Given the description of an element on the screen output the (x, y) to click on. 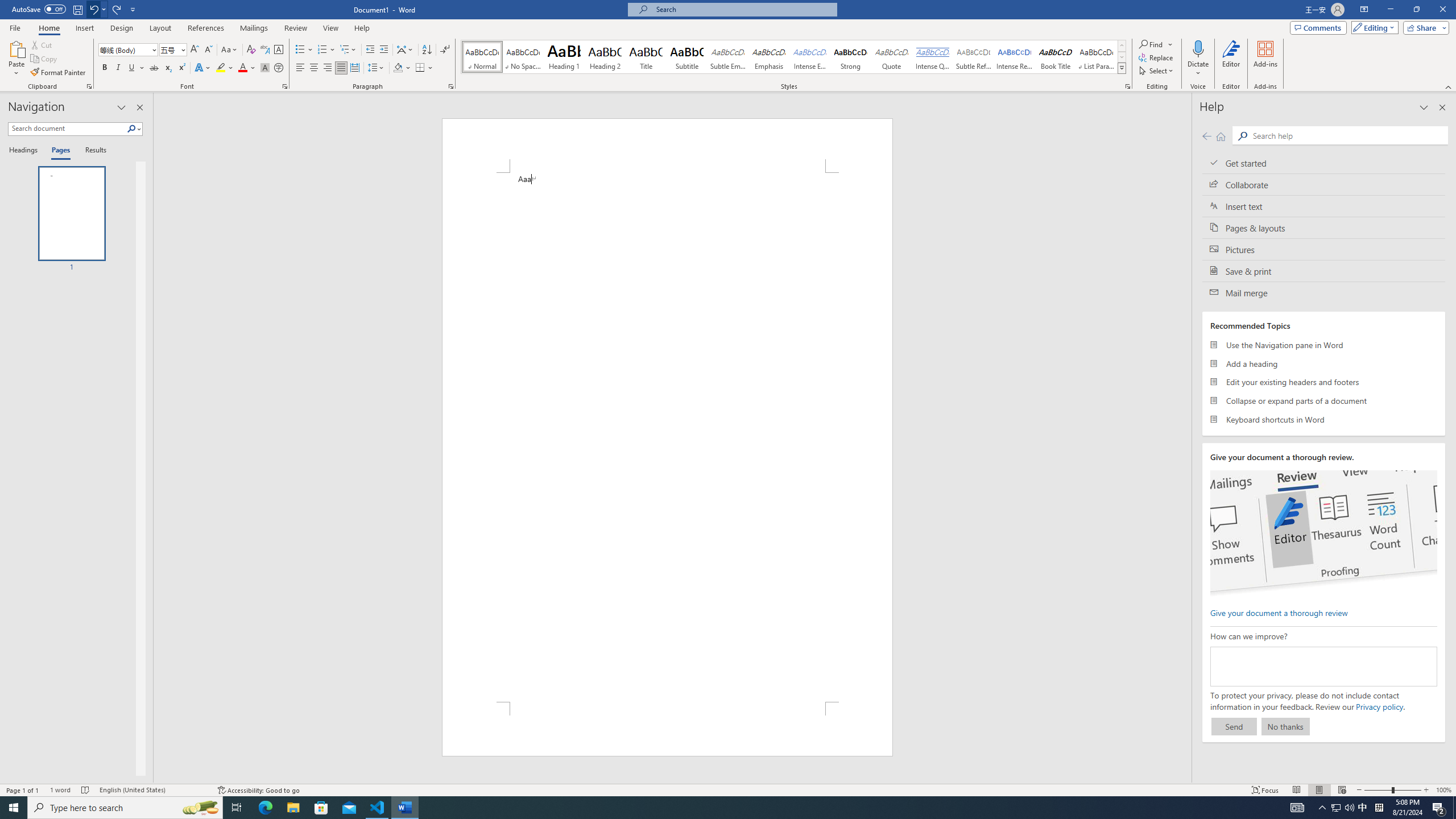
Get started (1323, 162)
Font Color Red (241, 67)
Spelling and Grammar Check No Errors (85, 790)
Close pane (139, 107)
Increase Indent (383, 49)
Save & print (1323, 270)
Shading (402, 67)
Intense Reference (1014, 56)
